Given the description of an element on the screen output the (x, y) to click on. 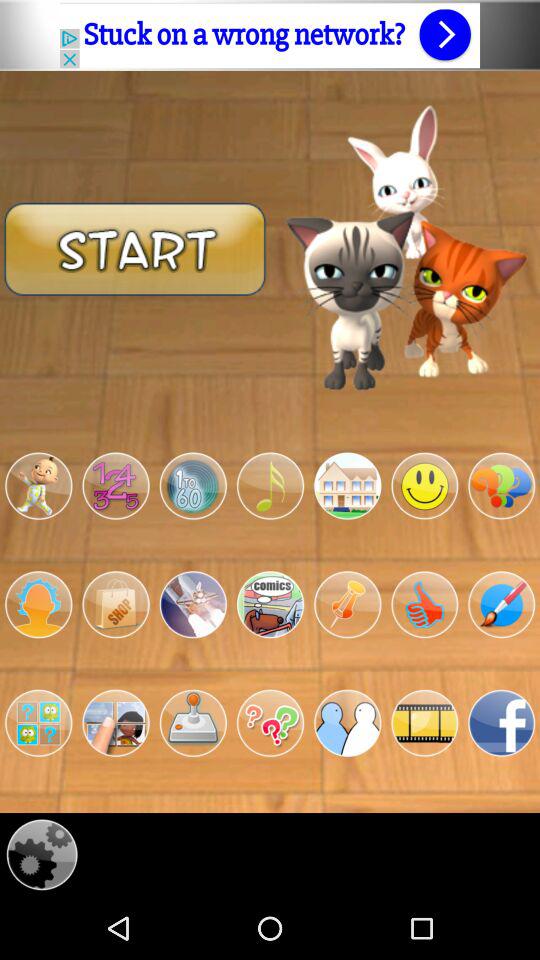
toggle application (424, 723)
